Given the description of an element on the screen output the (x, y) to click on. 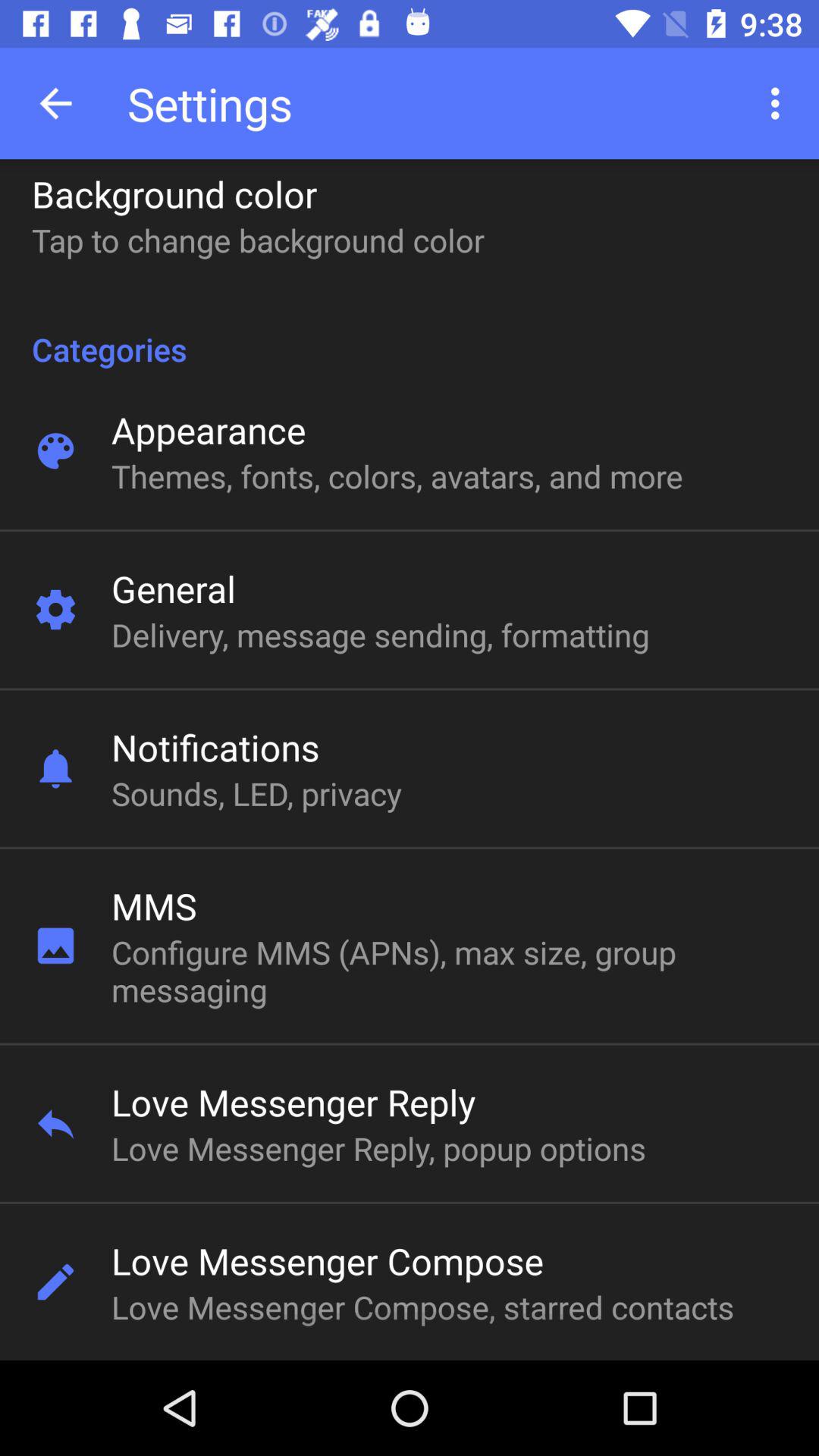
choose icon below the themes fonts colors item (173, 588)
